Given the description of an element on the screen output the (x, y) to click on. 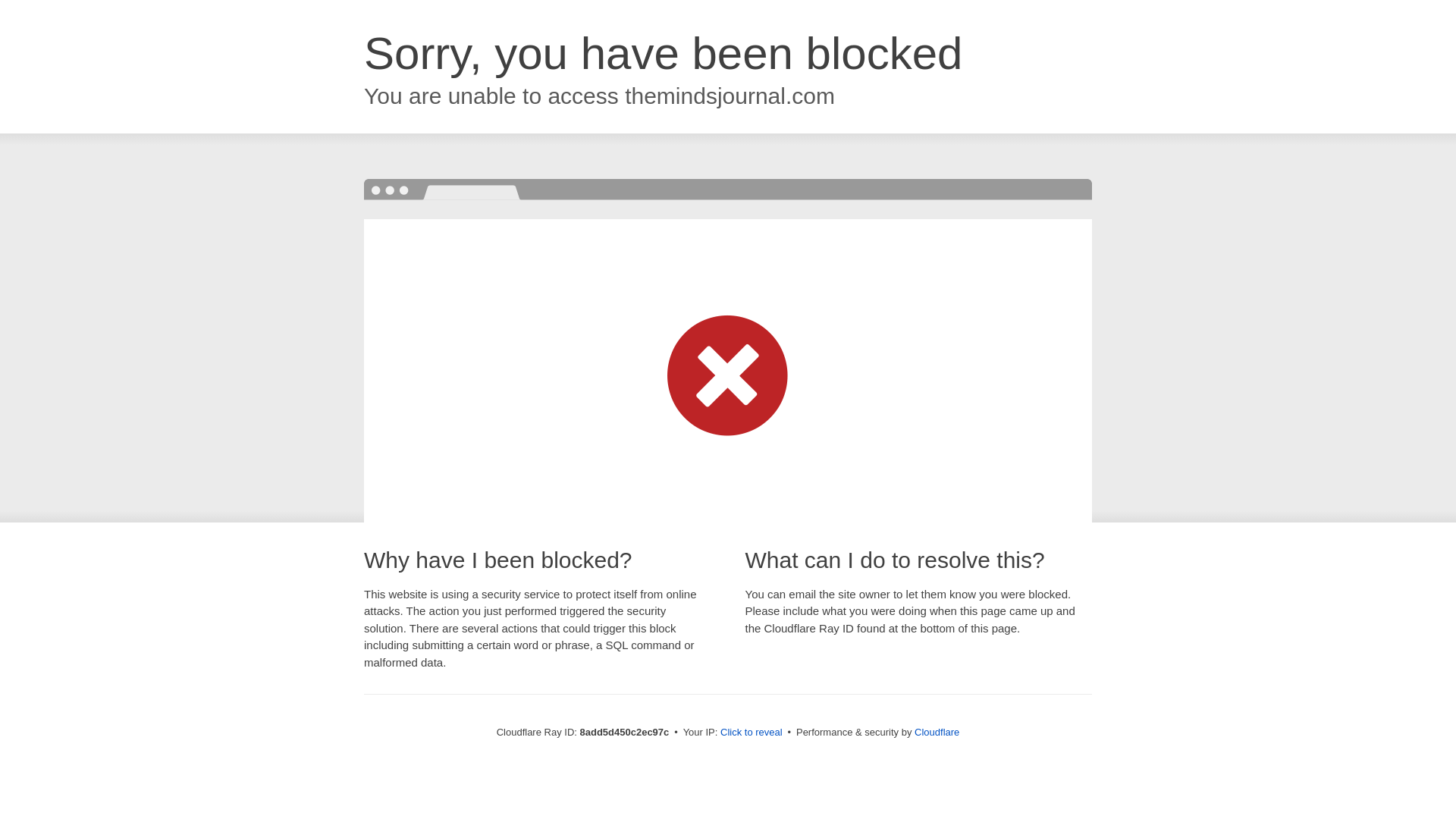
Cloudflare (936, 731)
Click to reveal (751, 732)
